Given the description of an element on the screen output the (x, y) to click on. 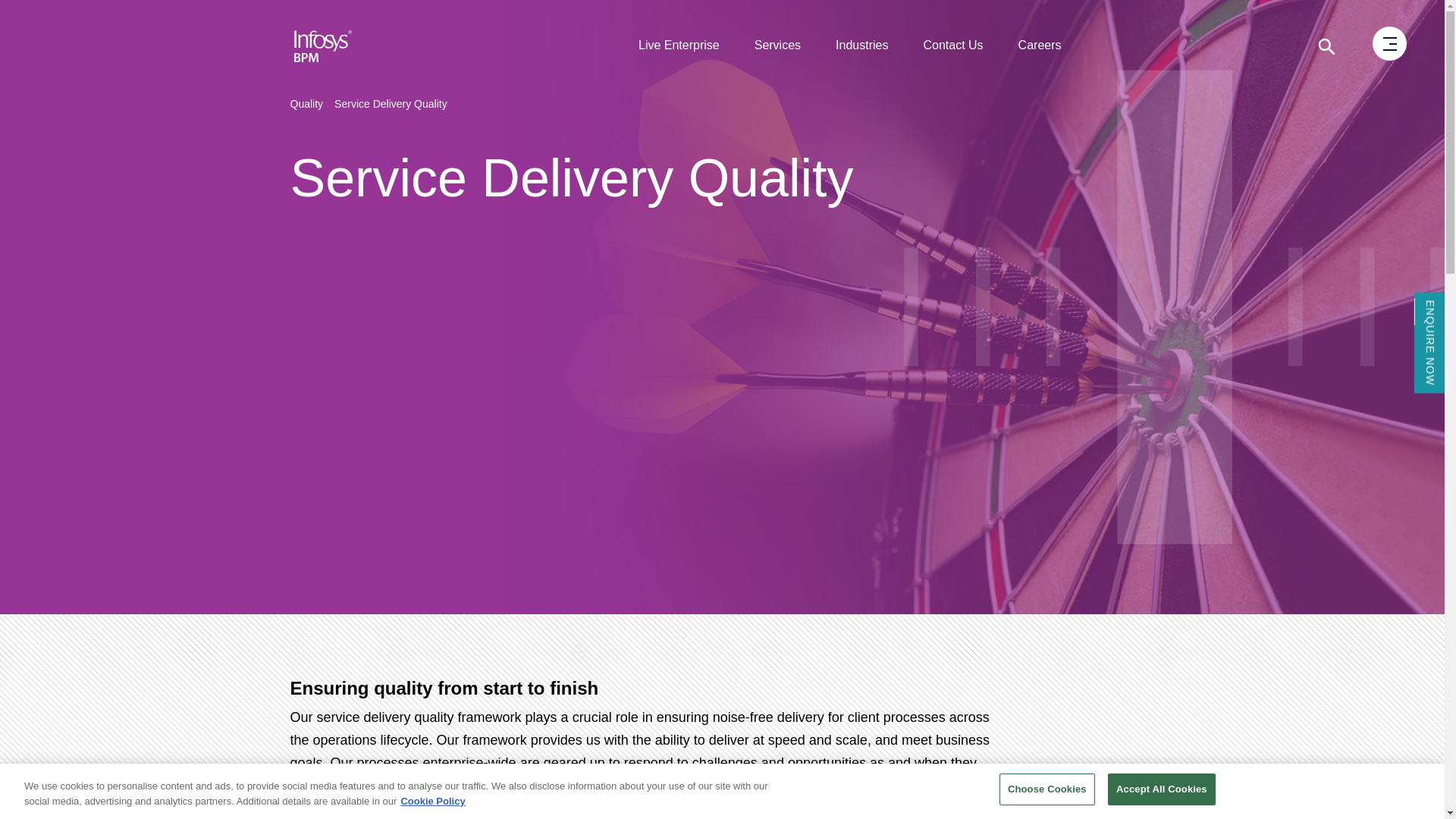
Live Enterprise (678, 45)
Industries (861, 45)
Services (777, 45)
Industries (861, 45)
Live Enterprise (678, 45)
Contact Us (952, 45)
Careers (1040, 45)
Contact Us (952, 45)
Services (777, 45)
Careers (1040, 45)
